Given the description of an element on the screen output the (x, y) to click on. 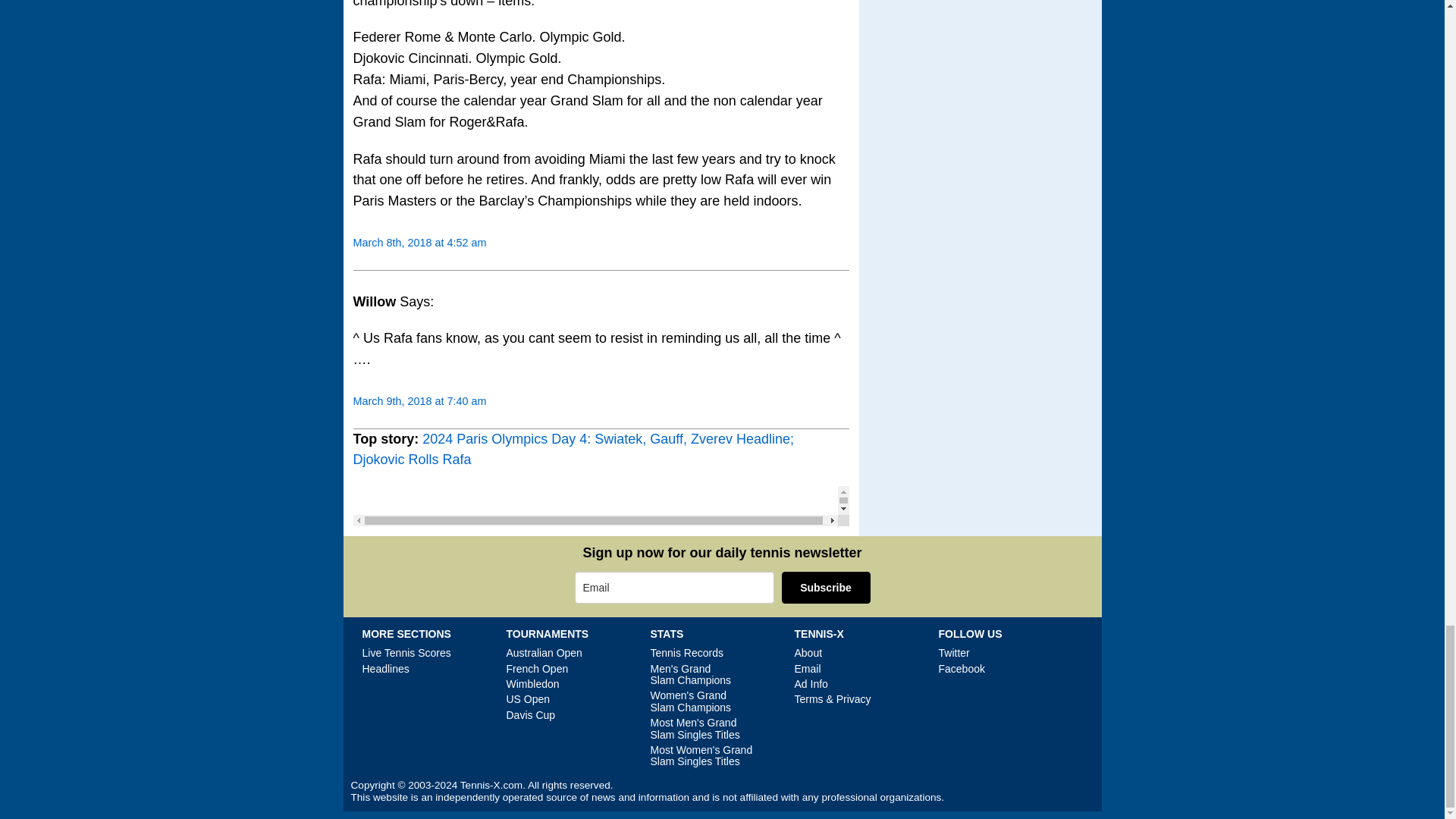
March 9th, 2018 at 7:40 am (419, 400)
March 8th, 2018 at 4:52 am (419, 242)
